Given the description of an element on the screen output the (x, y) to click on. 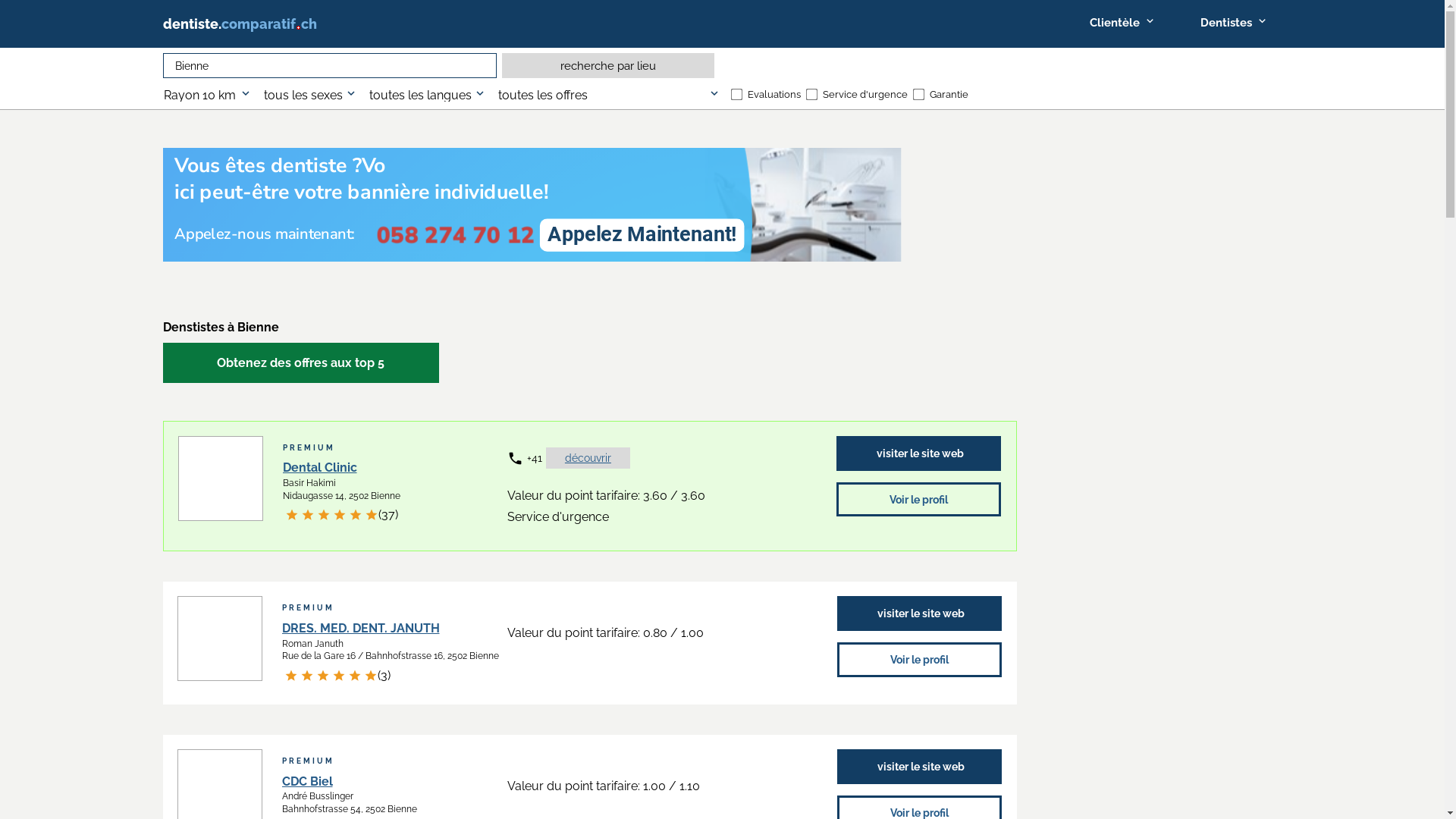
on Element type: text (735, 93)
Banner Element type: hover (589, 204)
dentiste.comparatif
ch Element type: text (260, 23)
recherche par lieu Element type: text (608, 65)
Dentistes
expand_more Element type: text (1232, 22)
on Element type: text (810, 93)
visiter le site web Element type: text (919, 613)
on Element type: text (917, 93)
Obtenez des offres aux top 5 Element type: text (300, 362)
visiter le site web Element type: text (918, 453)
CDC Biel Element type: text (307, 781)
Voir le profil Element type: text (918, 499)
Dental Clinic Element type: text (319, 467)
DRES. MED. DENT. JANUTH Element type: text (360, 628)
visiter le site web Element type: text (919, 766)
Voir le profil Element type: text (919, 659)
